Given the description of an element on the screen output the (x, y) to click on. 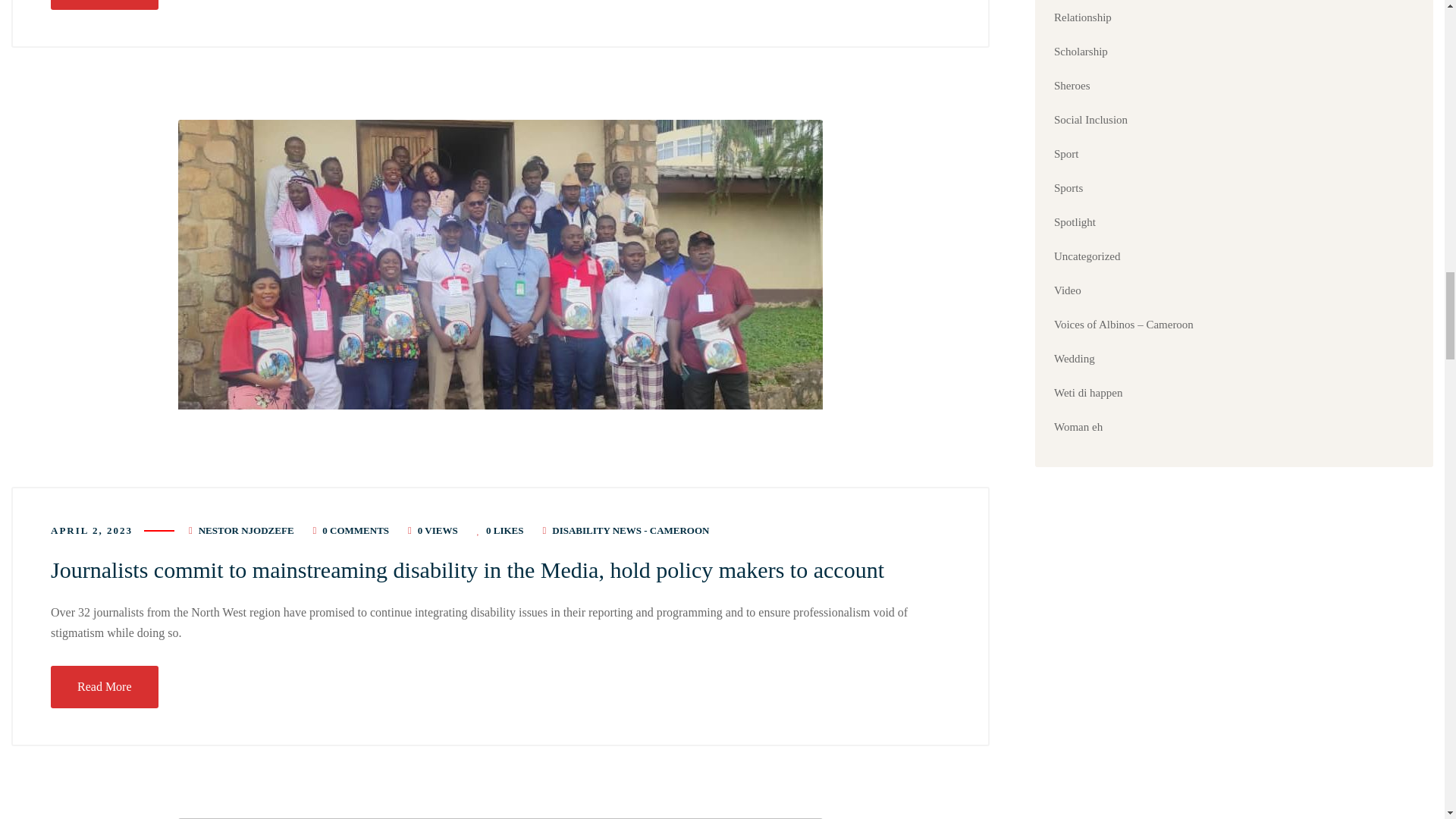
View all posts in Disability News - Cameroon (630, 530)
